Given the description of an element on the screen output the (x, y) to click on. 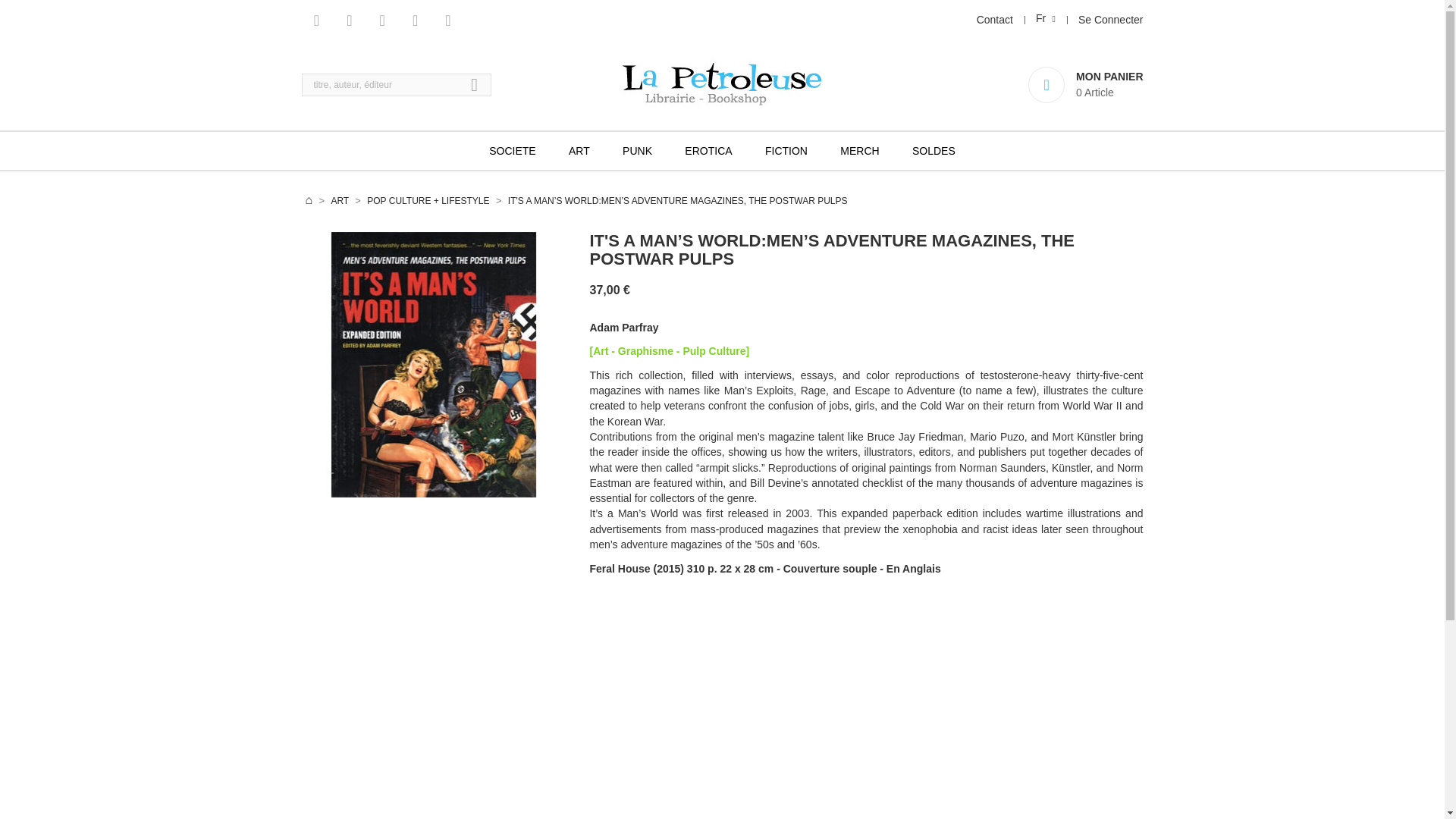
SOCIETE (512, 150)
FICTION (785, 150)
EROTICA (707, 150)
MERCH (859, 150)
Se Connecter (1110, 19)
PUNK (636, 150)
Fr (1045, 18)
ART (579, 150)
Identifiez-vous (1110, 19)
Contact (994, 19)
